Given the description of an element on the screen output the (x, y) to click on. 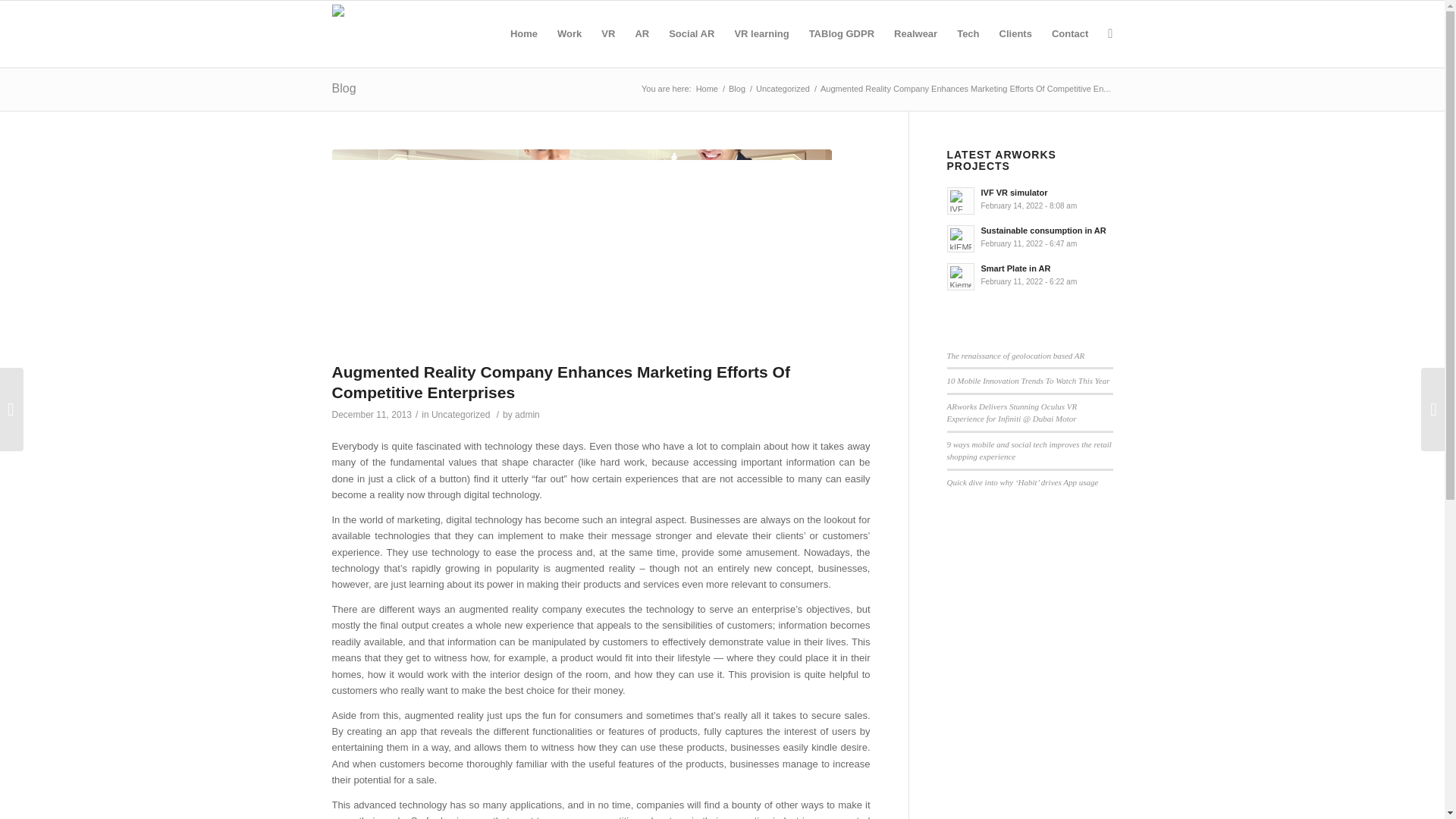
Uncategorized (459, 414)
Social AR (691, 33)
admin (527, 414)
Realwear (915, 33)
VR learning (760, 33)
Blog (737, 89)
Blog (737, 89)
Posts by admin (527, 414)
Home (707, 89)
TABlog GDPR (841, 33)
Blog (343, 88)
Uncategorized (783, 89)
